Given the description of an element on the screen output the (x, y) to click on. 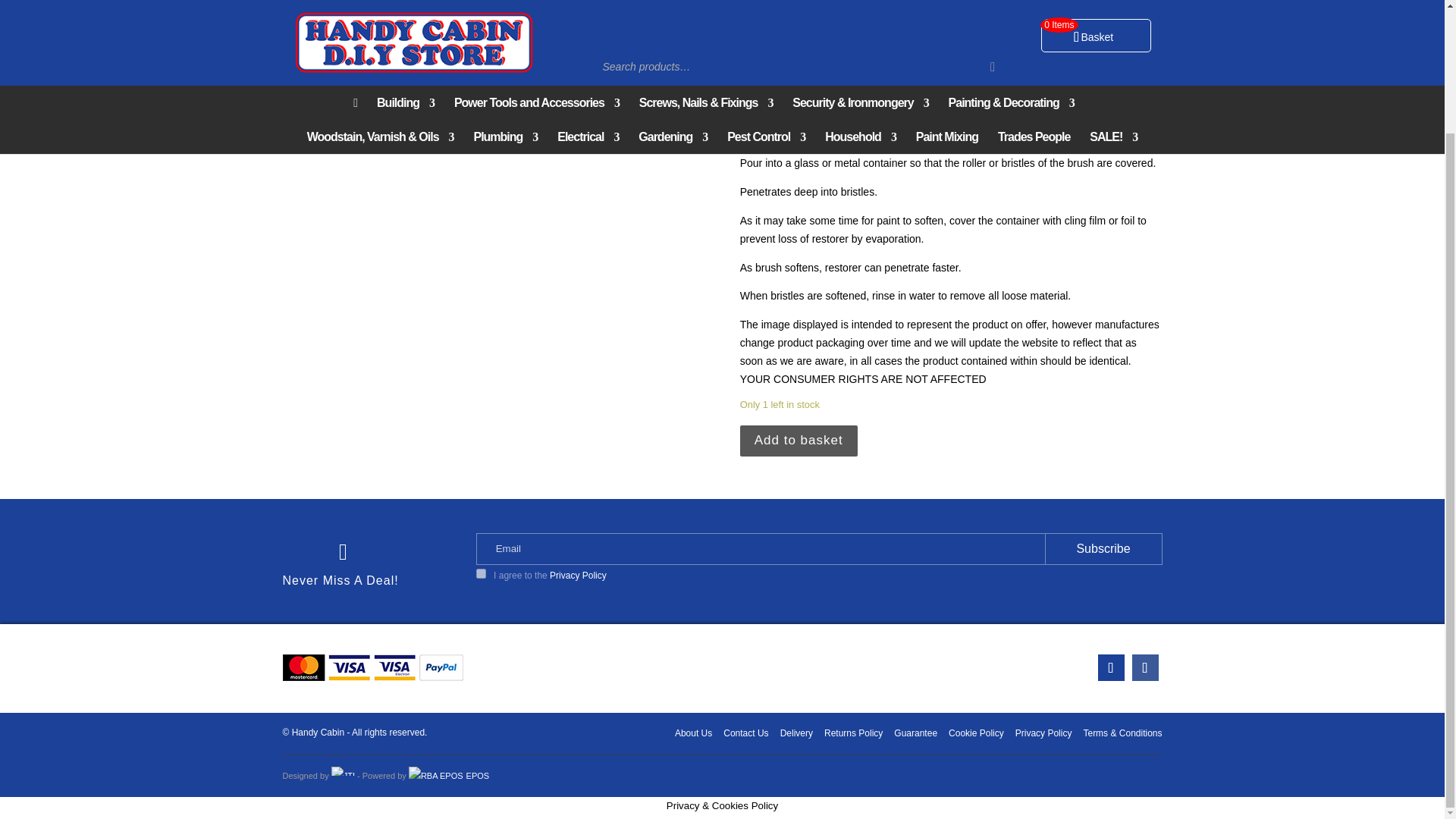
Subscribe (1103, 549)
Follow on Facebook (1144, 667)
true (481, 573)
location (1110, 667)
